Given the description of an element on the screen output the (x, y) to click on. 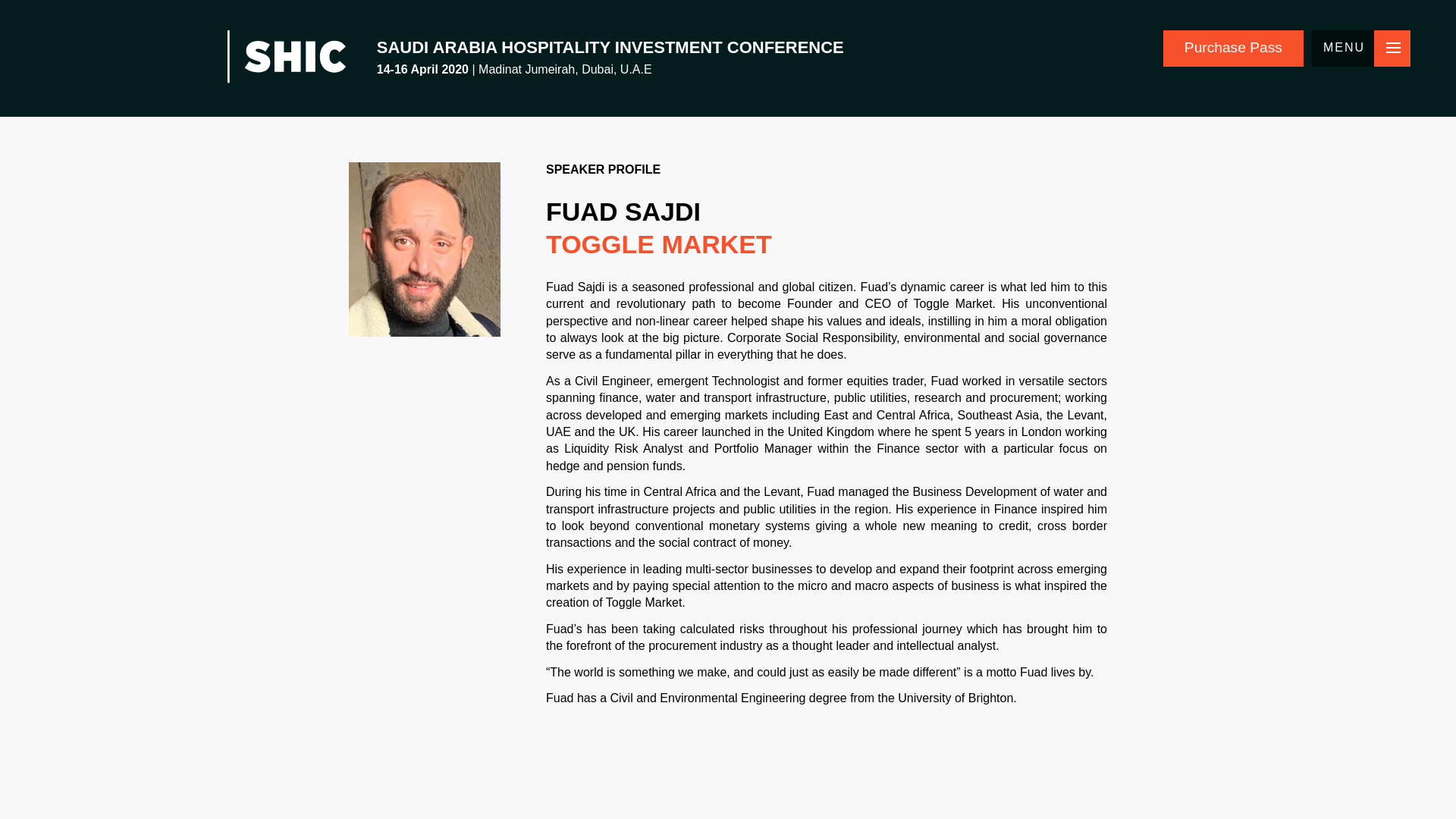
Purchase Pass (1233, 48)
